Given the description of an element on the screen output the (x, y) to click on. 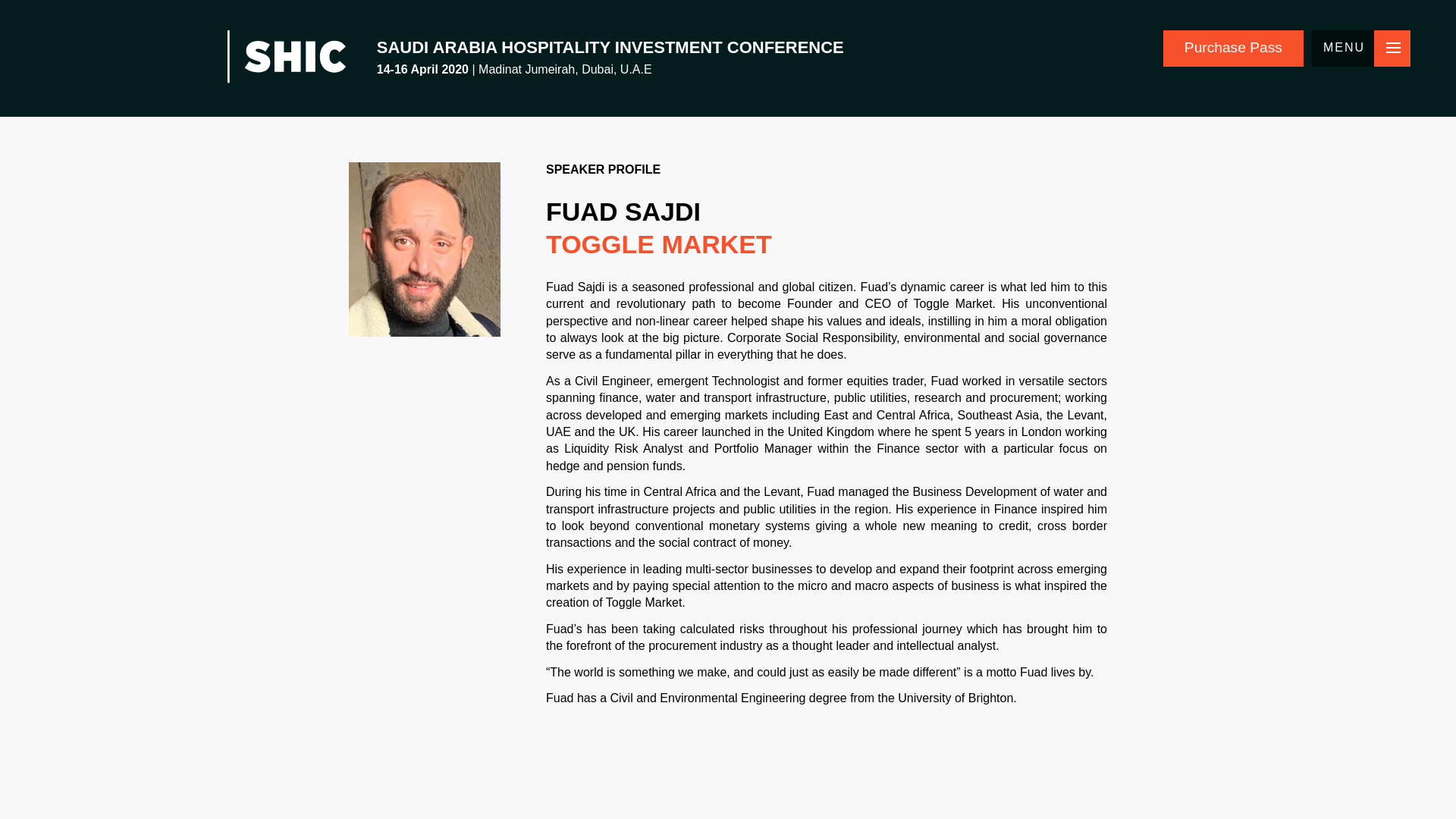
Purchase Pass (1233, 48)
